Given the description of an element on the screen output the (x, y) to click on. 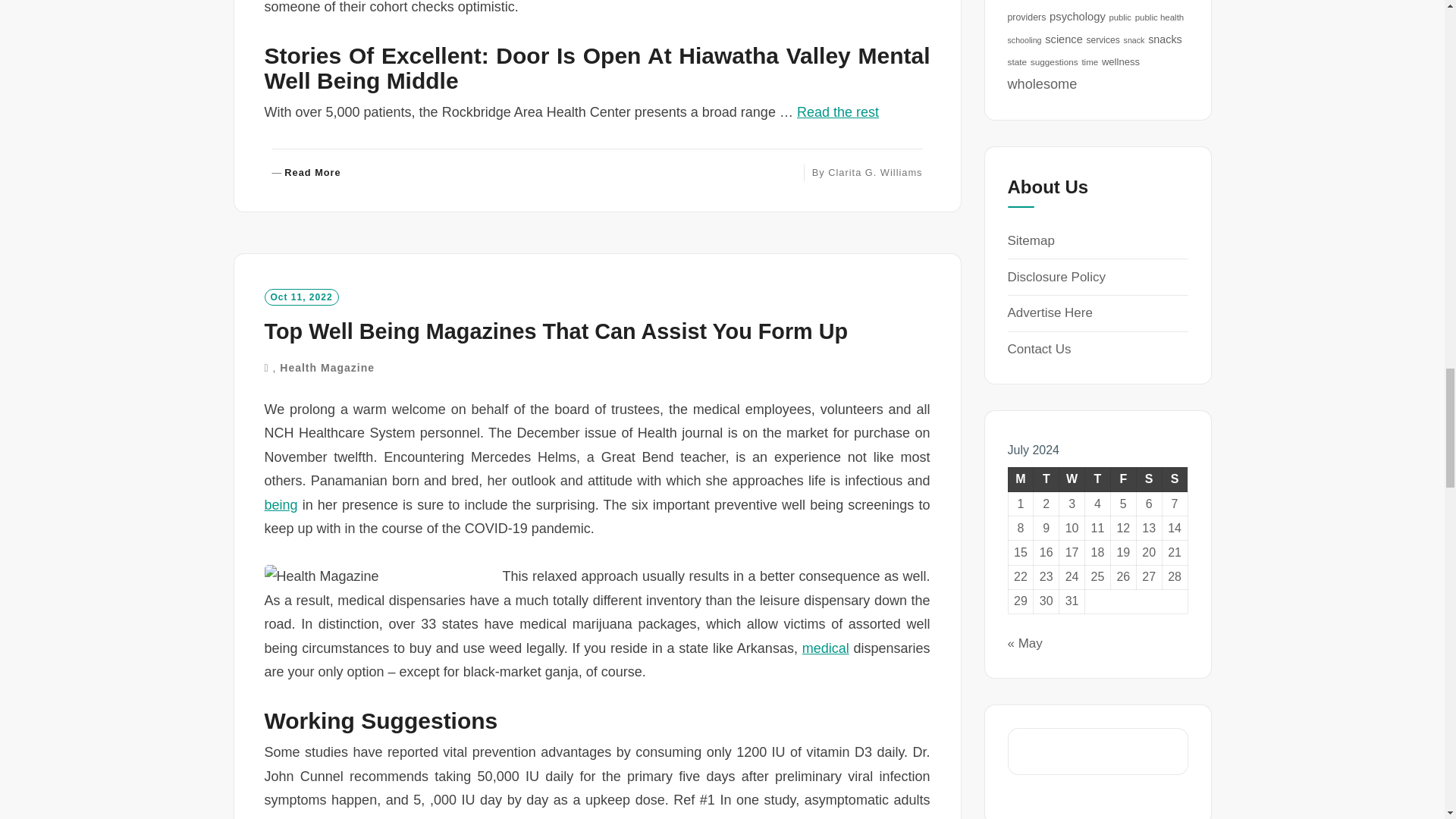
Wednesday (1071, 478)
Sunday (1174, 478)
Monday (1020, 478)
Friday (1122, 478)
Tuesday (1046, 478)
Saturday (1148, 478)
Thursday (1097, 478)
